Given the description of an element on the screen output the (x, y) to click on. 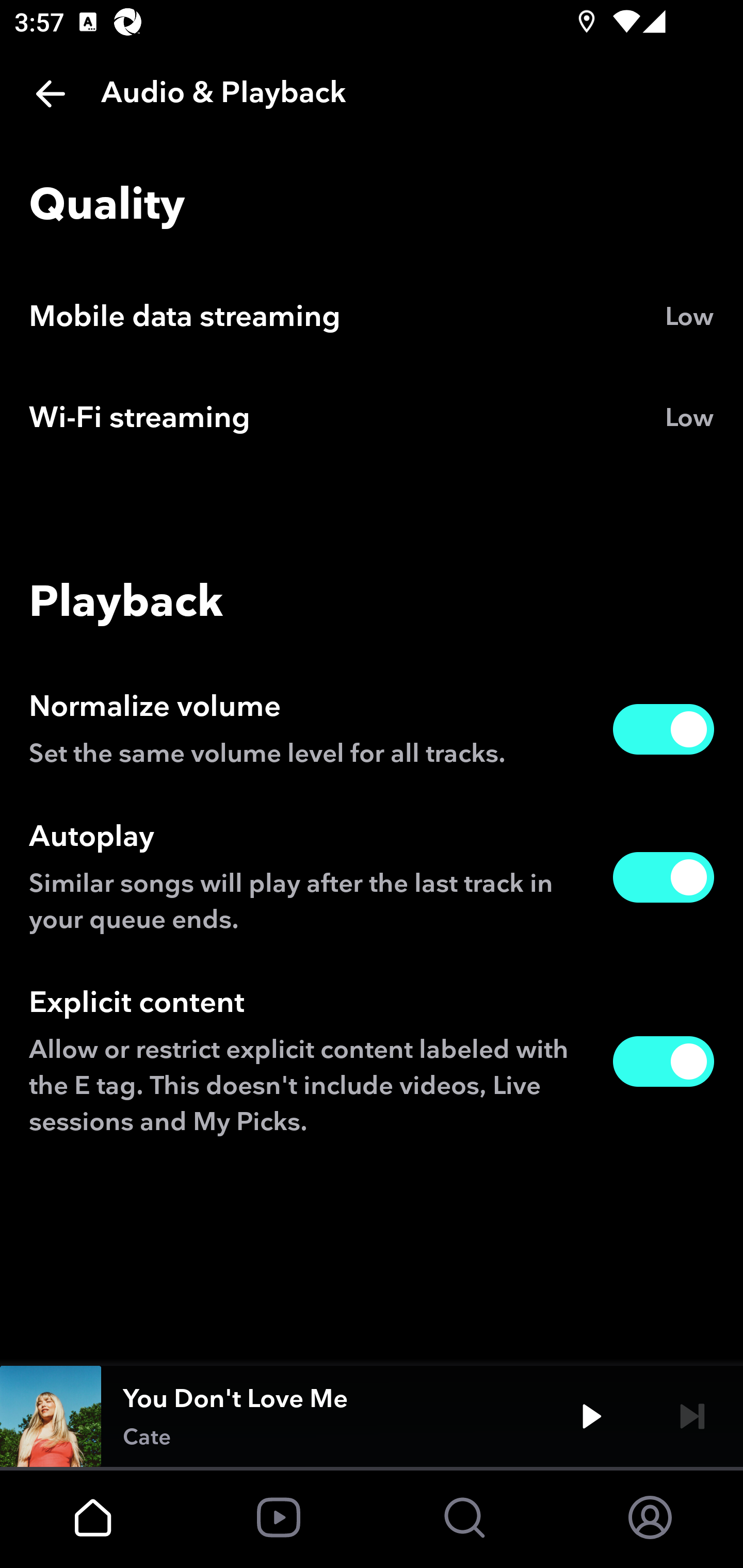
Back (50, 93)
Mobile data streaming Low (371, 317)
Wi-Fi streaming Low (371, 418)
You Don't Love Me Cate Play (371, 1416)
Play (590, 1416)
